Given the description of an element on the screen output the (x, y) to click on. 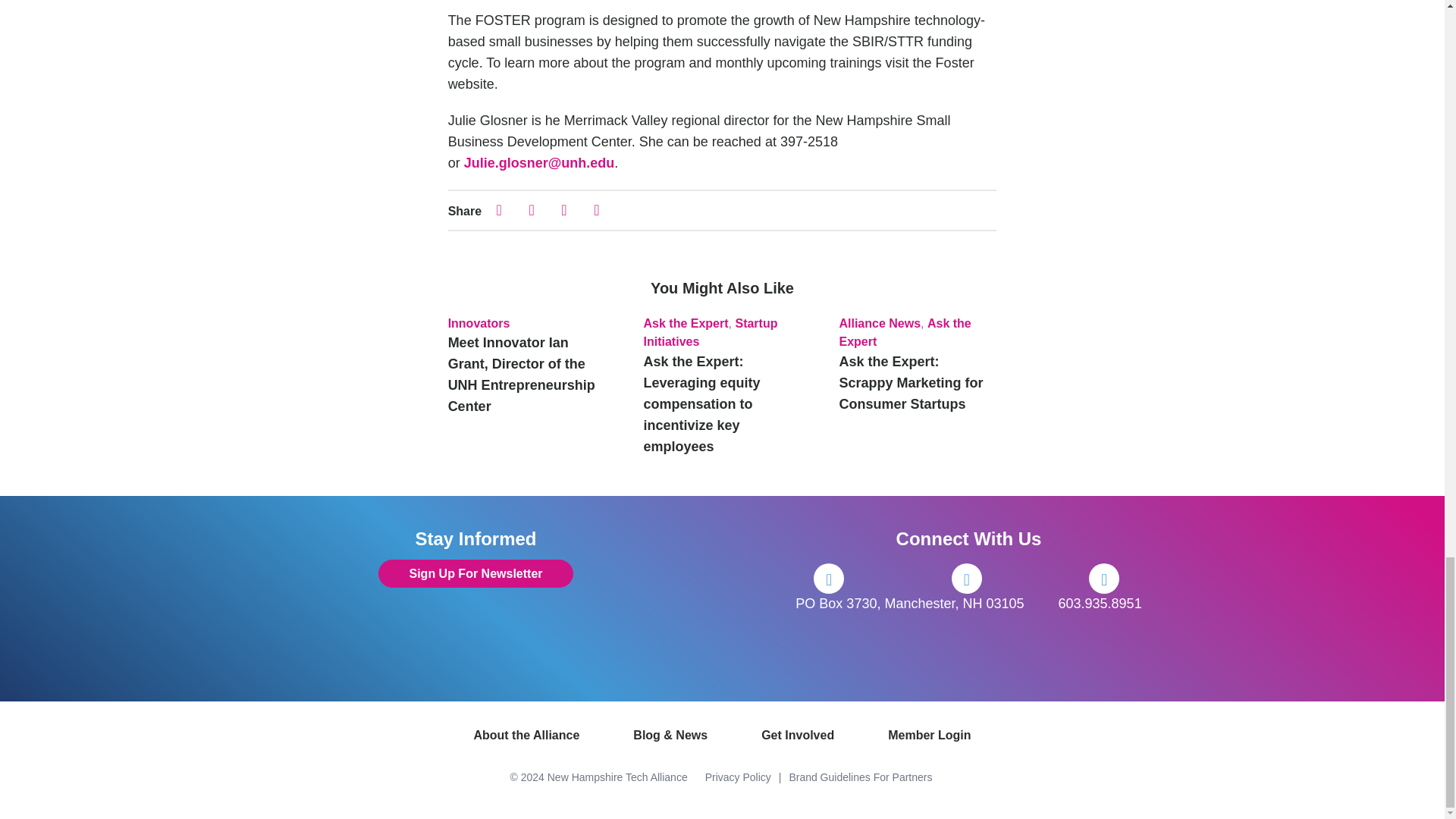
LinkedIn (1104, 578)
Twitter (966, 578)
Facebook (828, 578)
